Given the description of an element on the screen output the (x, y) to click on. 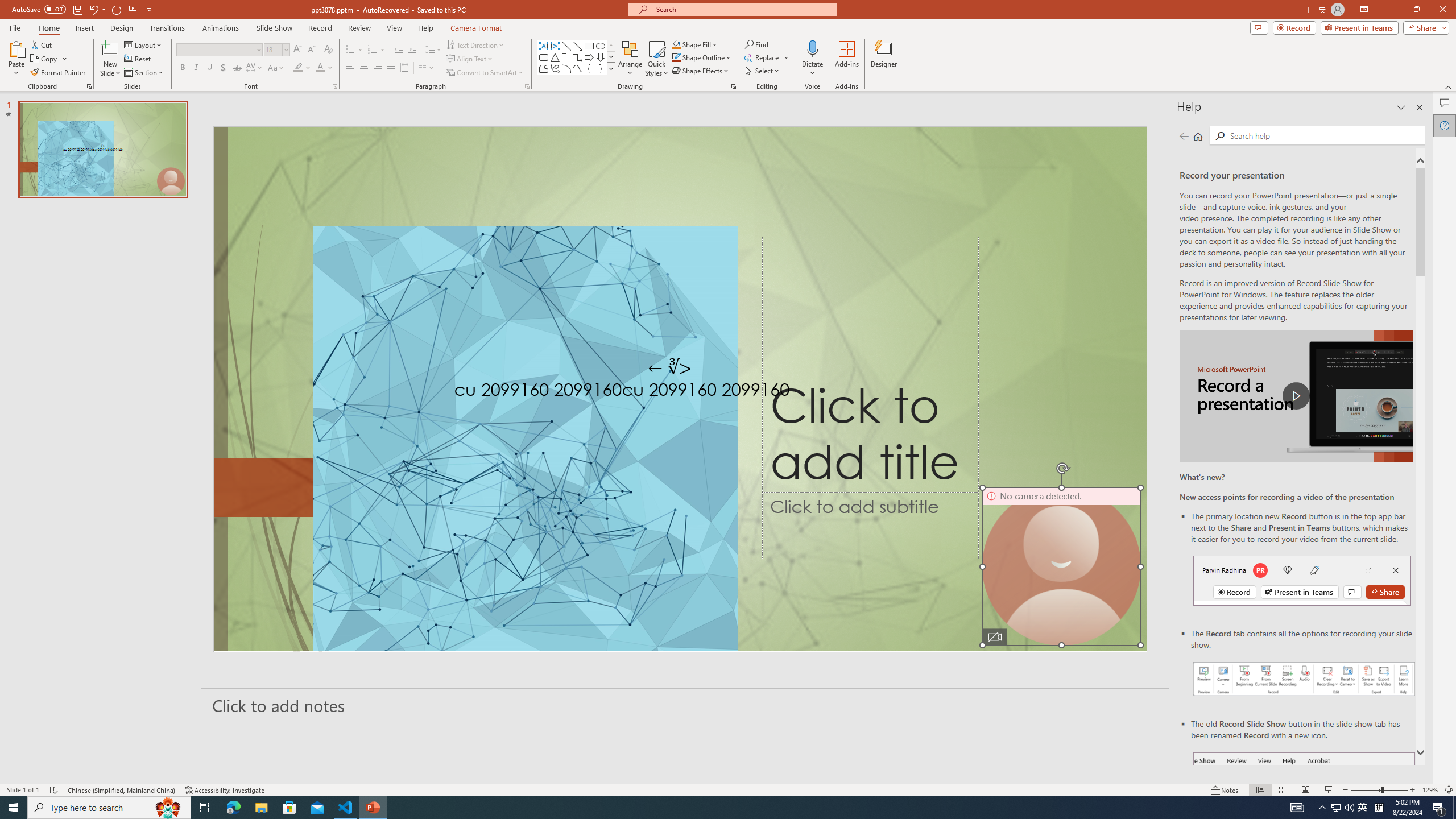
Shape Fill Dark Green, Accent 2 (675, 44)
